Given the description of an element on the screen output the (x, y) to click on. 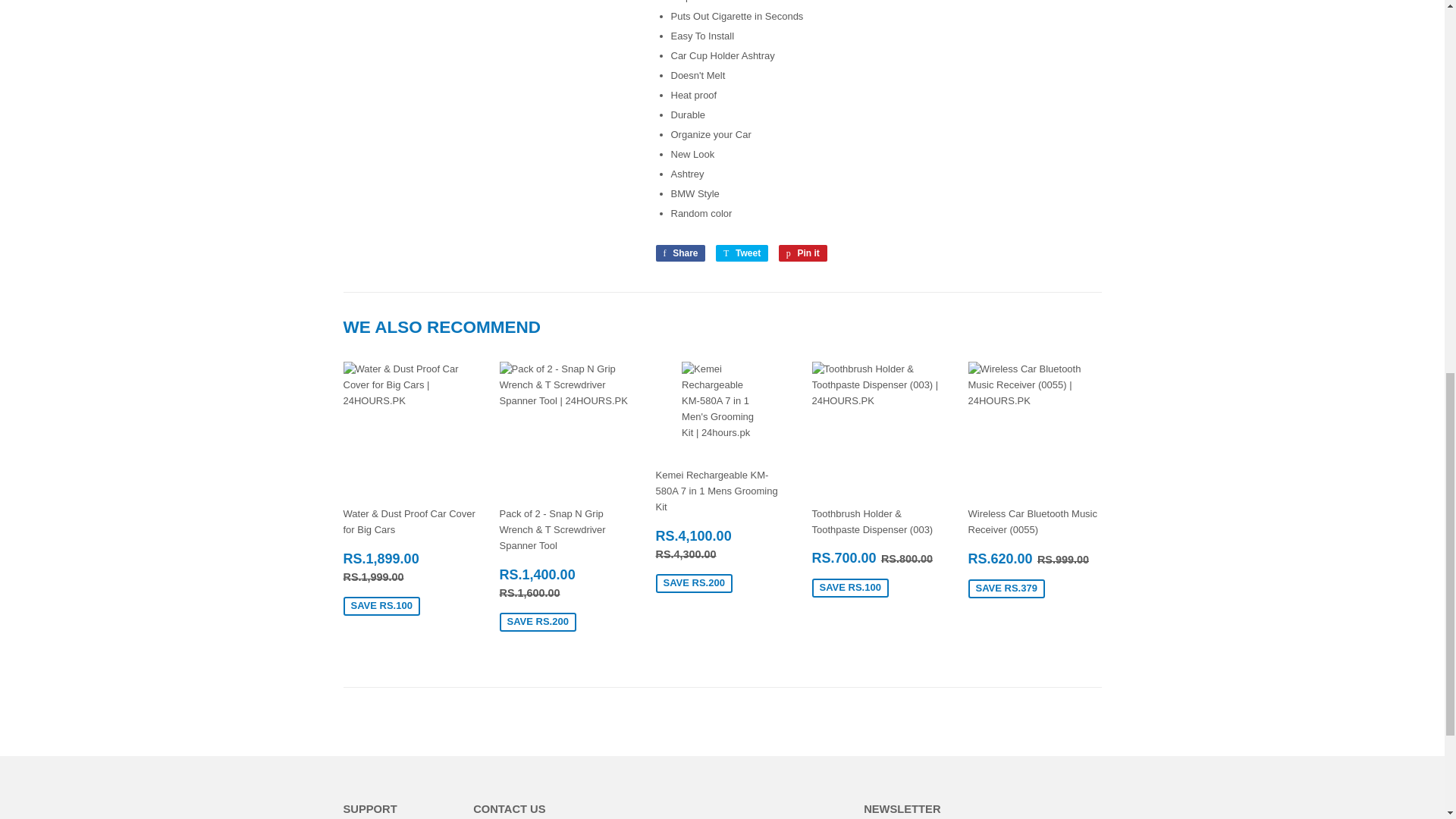
Pin on Pinterest (802, 252)
Tweet on Twitter (742, 252)
Share on Facebook (679, 252)
